Given the description of an element on the screen output the (x, y) to click on. 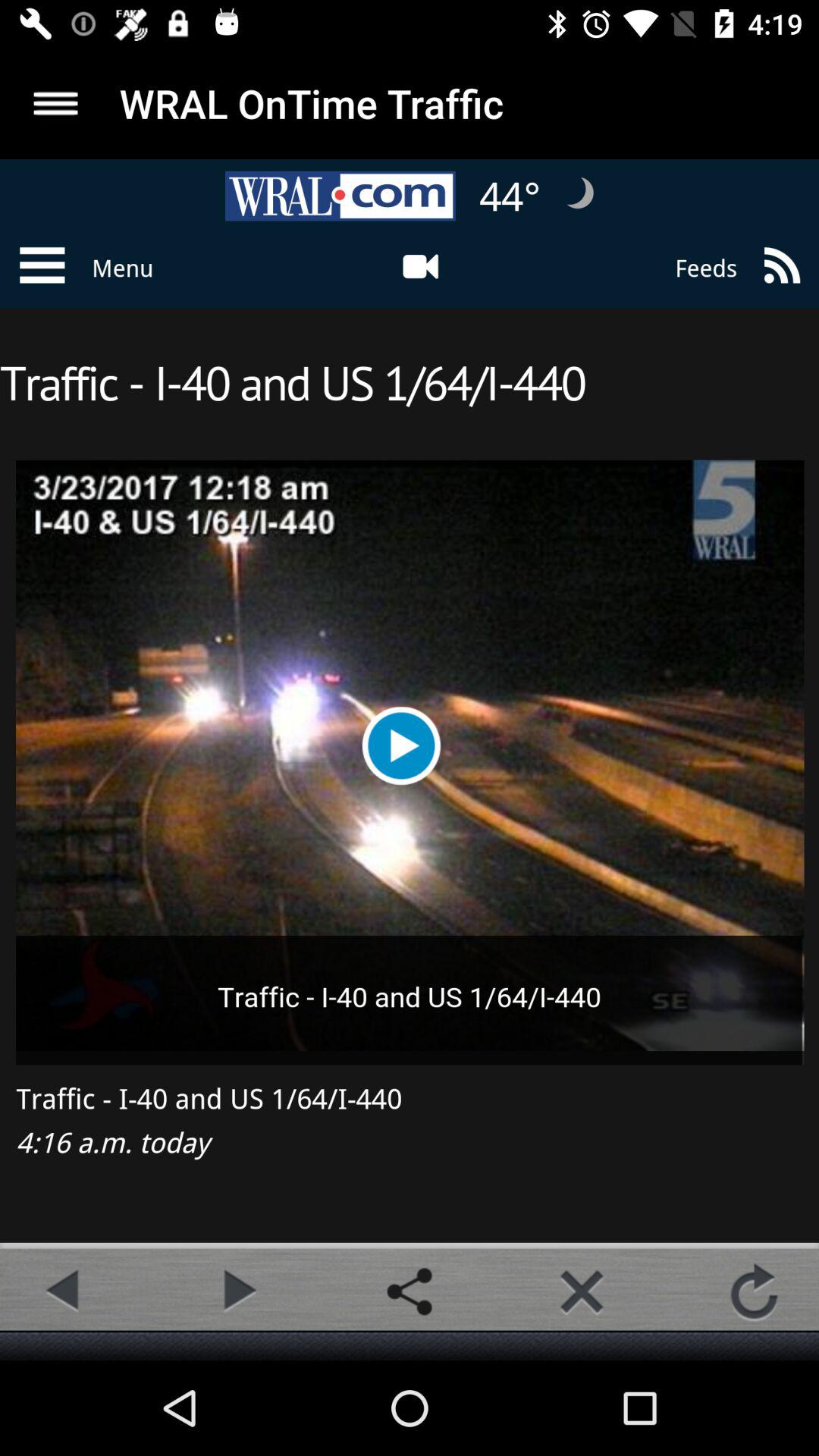
display menu options (55, 103)
